Given the description of an element on the screen output the (x, y) to click on. 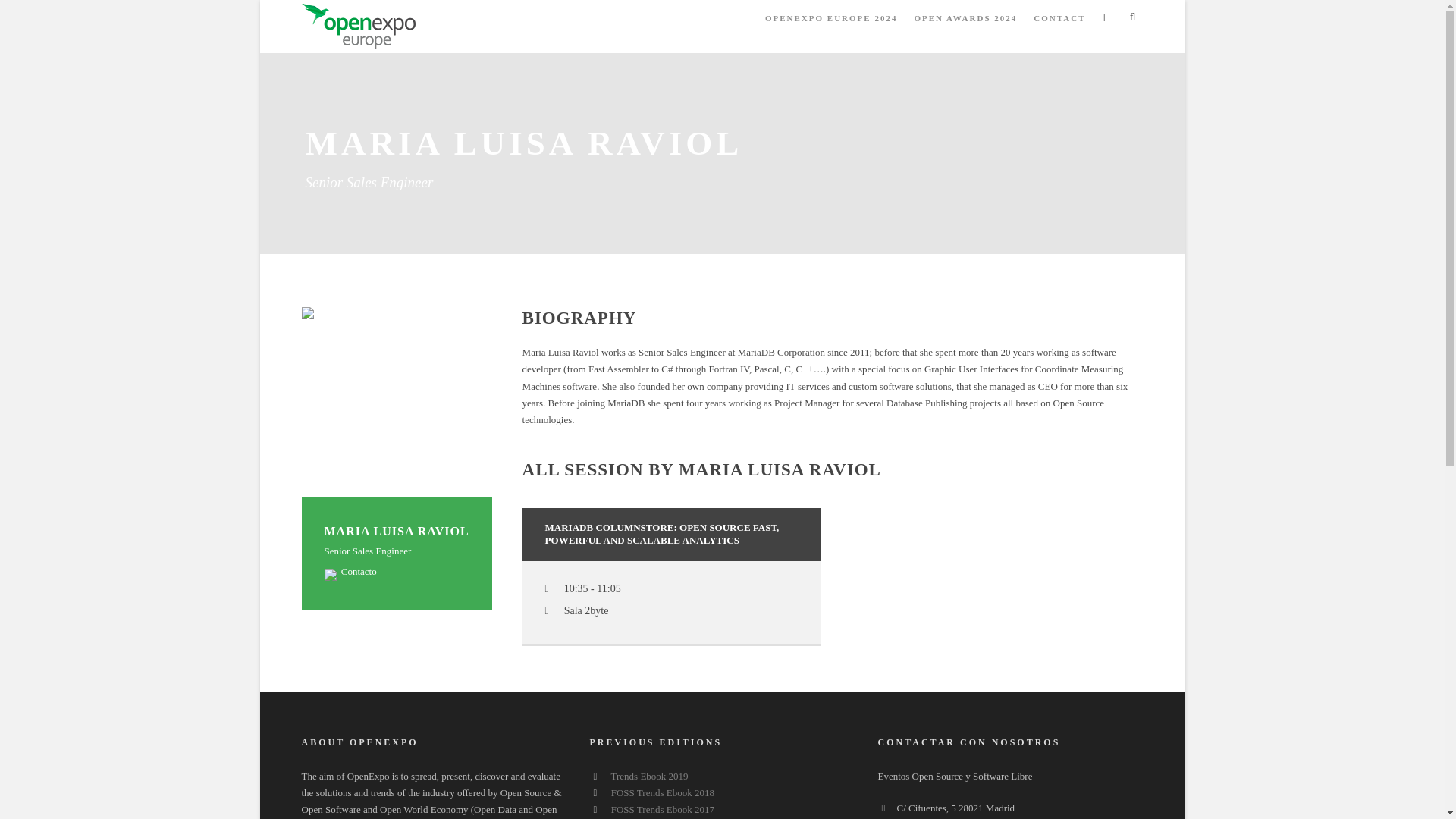
CONTACT (1058, 25)
Contacto (350, 571)
FOSS Trends Ebook 2018 (662, 792)
OPENEXPO EUROPE 2024 (830, 25)
Trends Ebook 2019 (649, 776)
OPEN AWARDS 2024 (965, 25)
FOSS Trends Ebook 2017 (662, 808)
